Given the description of an element on the screen output the (x, y) to click on. 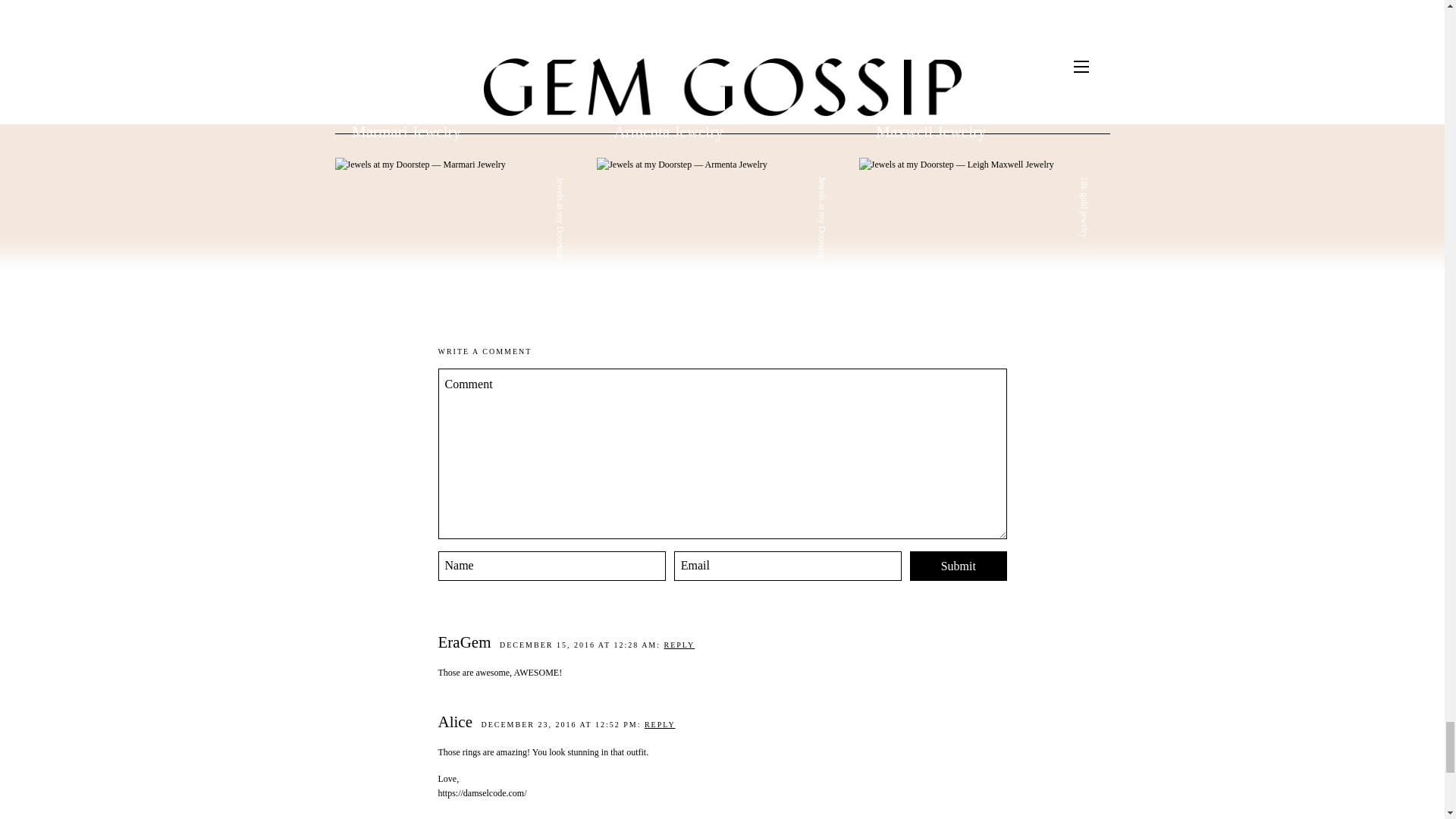
Submit (958, 565)
